Given the description of an element on the screen output the (x, y) to click on. 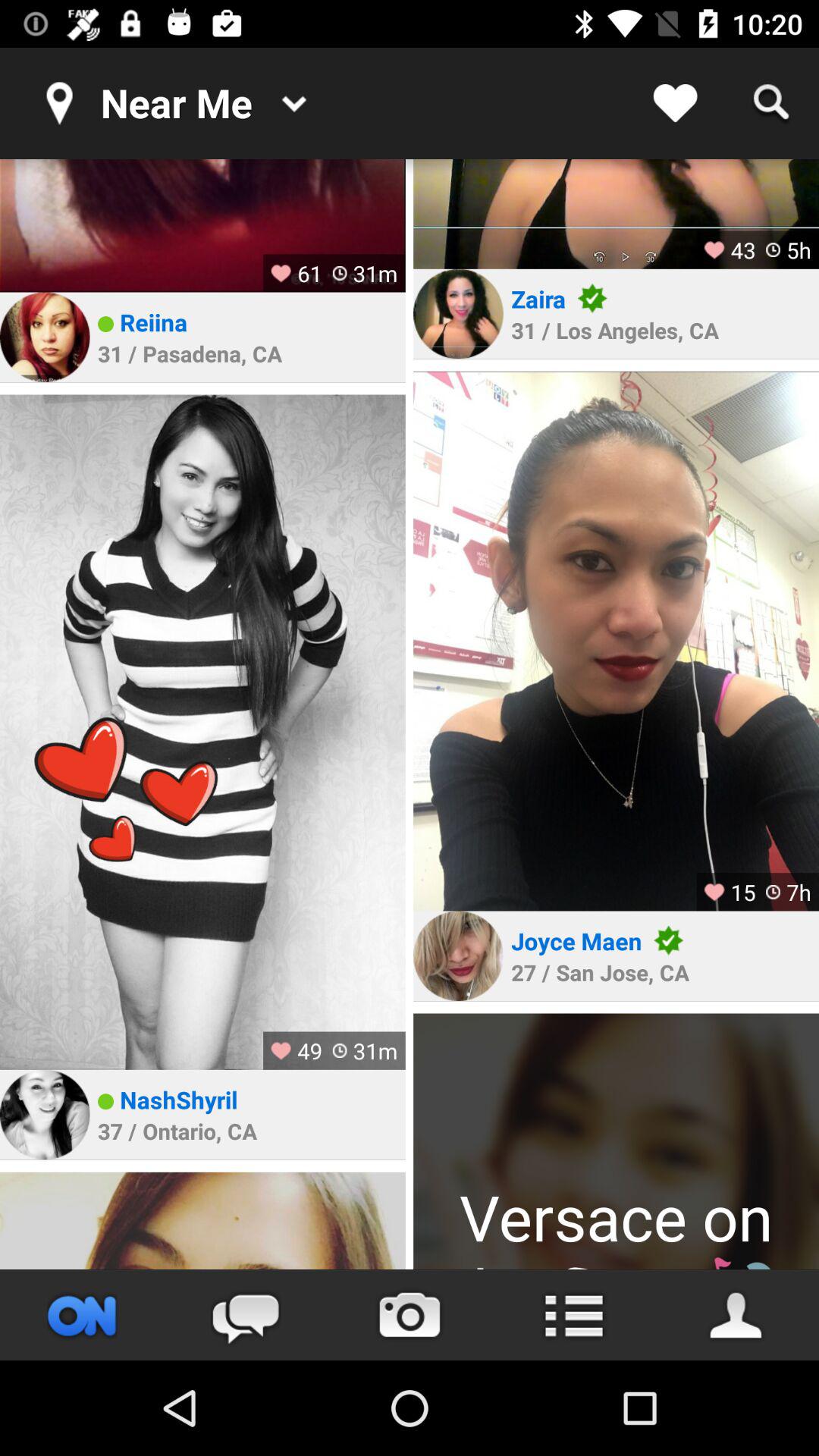
take a photo (409, 1315)
